Given the description of an element on the screen output the (x, y) to click on. 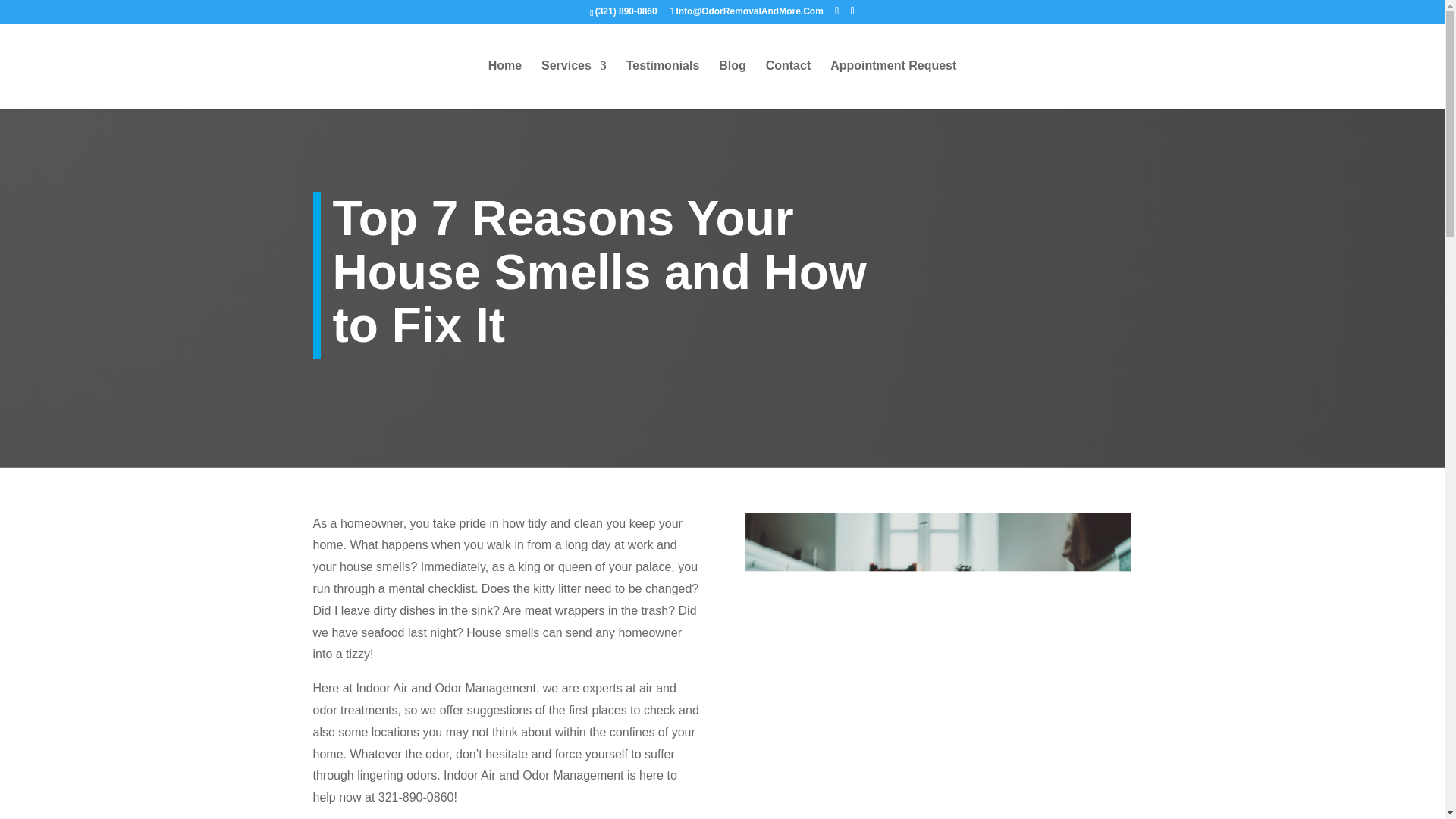
Testimonials (663, 84)
Contact (787, 84)
Appointment Request (892, 84)
Services (574, 84)
